Given the description of an element on the screen output the (x, y) to click on. 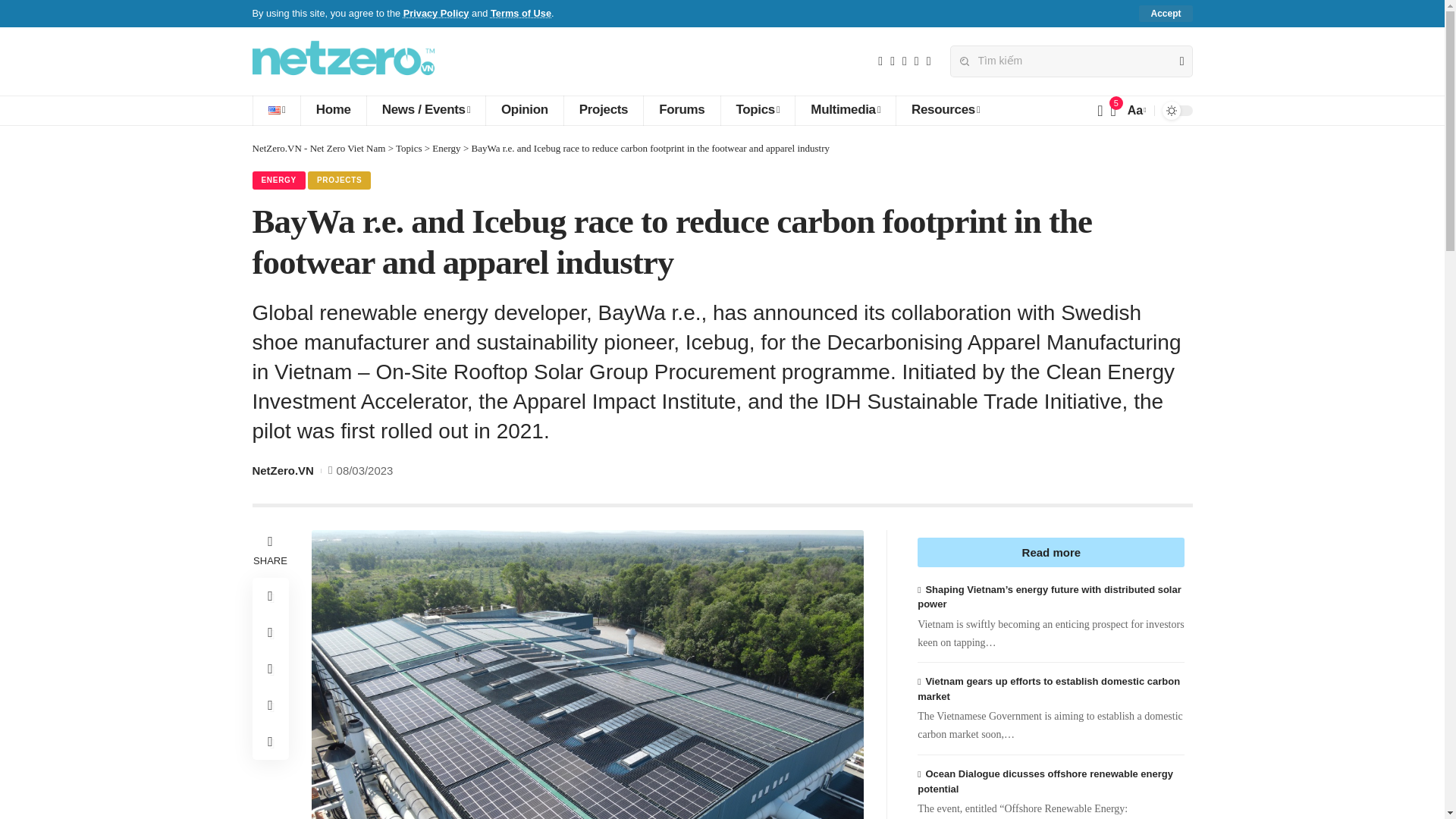
Opinion (523, 110)
Terms of Use (520, 12)
Forums (681, 110)
Search (1175, 60)
Topics (757, 110)
Go to the Topics Category archives. (409, 147)
NetZero.VN - Net Zero Viet Nam (342, 61)
Go to the Energy Category archives. (446, 147)
Go to NetZero.VN - Net Zero Viet Nam. (318, 147)
Multimedia (844, 110)
Privacy Policy (435, 12)
Projects (603, 110)
Accept (1165, 13)
Home (332, 110)
